Given the description of an element on the screen output the (x, y) to click on. 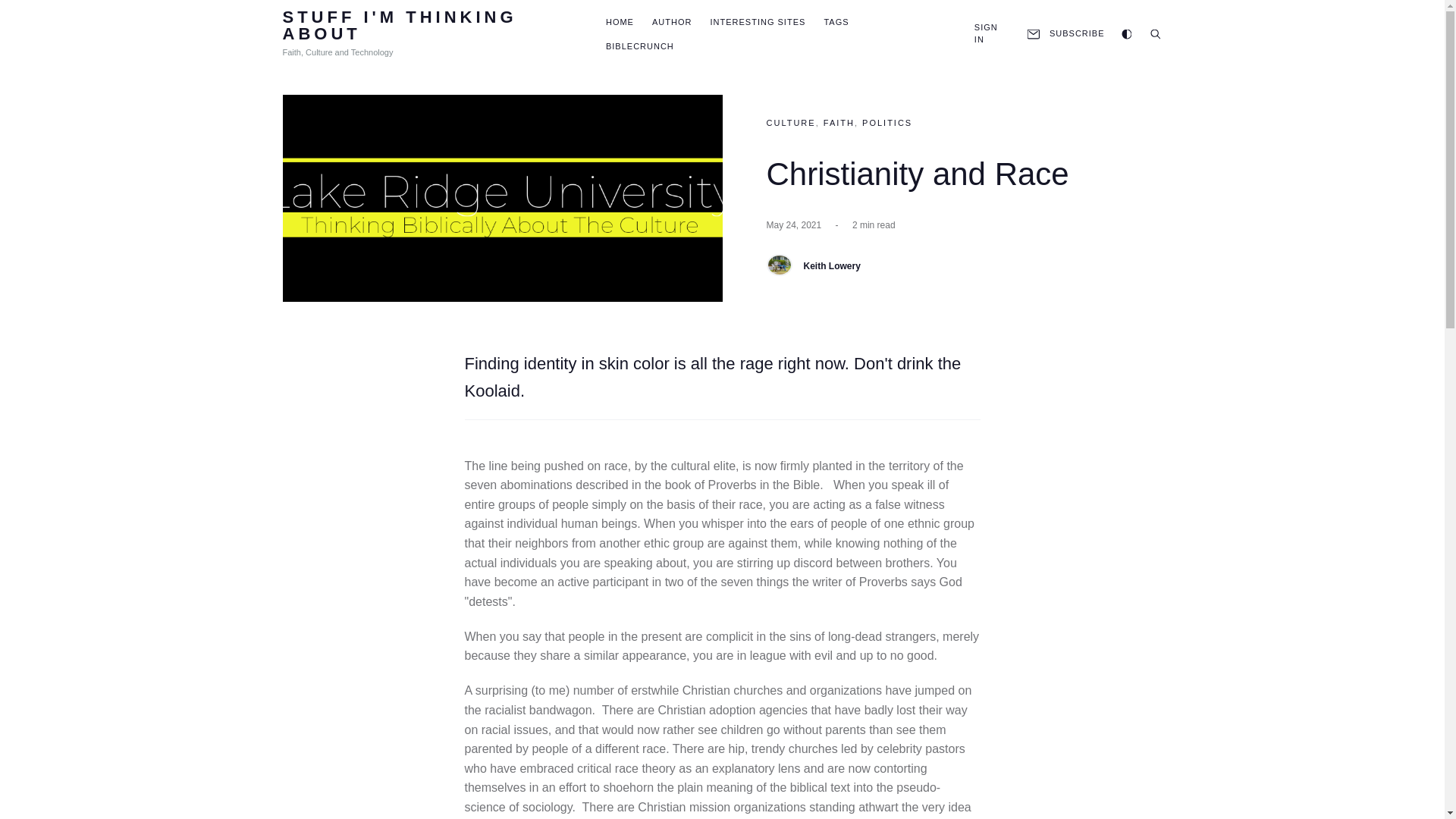
Keith Lowery (831, 266)
STUFF I'M THINKING ABOUT (425, 25)
BIBLECRUNCH (639, 46)
HOME (619, 21)
SUBSCRIBE (1064, 33)
INTERESTING SITES (758, 21)
Keith Lowery (831, 266)
SIGN IN (986, 33)
AUTHOR (671, 21)
Keith Lowery (778, 264)
